Given the description of an element on the screen output the (x, y) to click on. 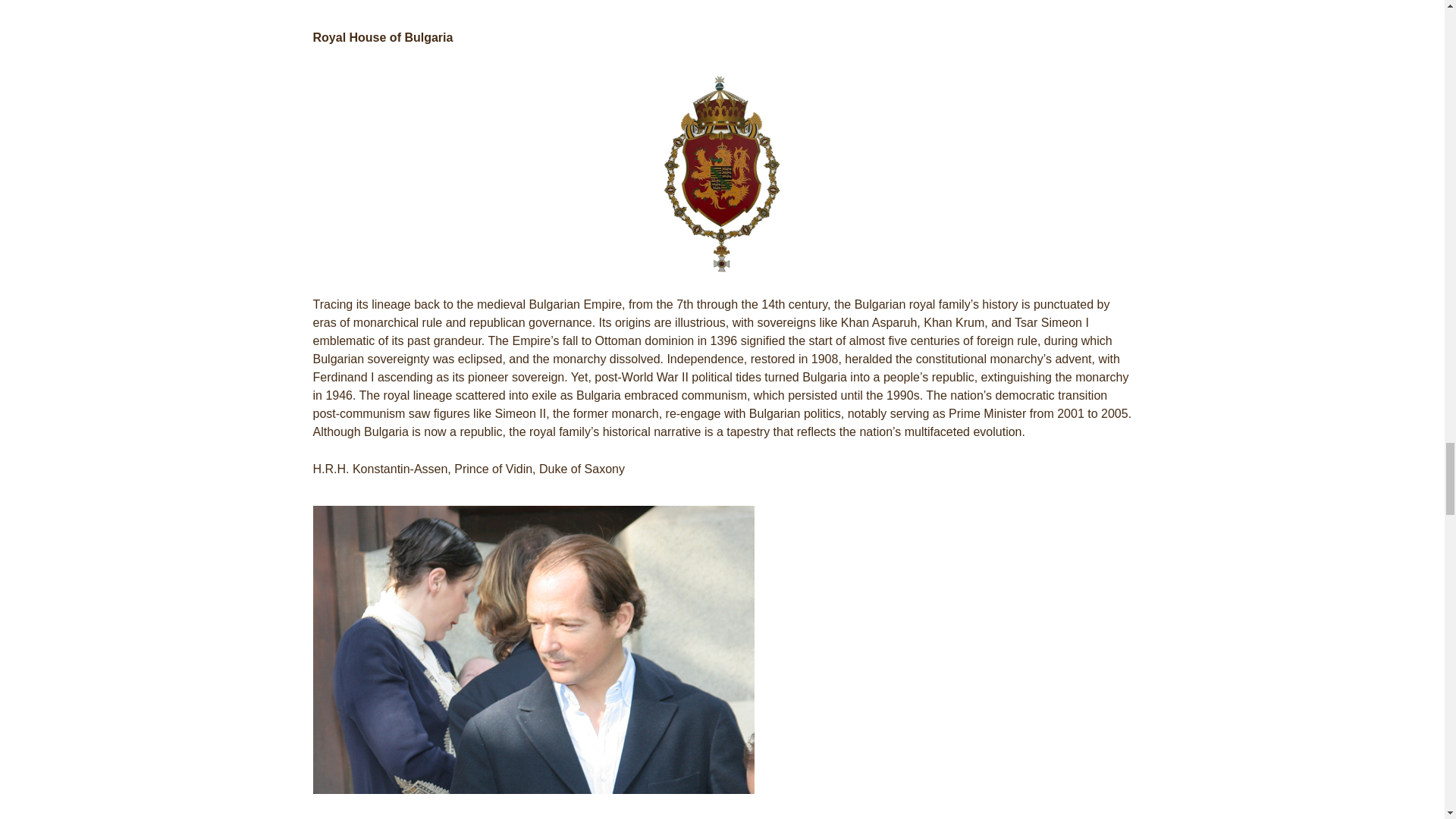
H.R.H. Konstantin-Assen, Prince of Vidin, Duke of Saxony (533, 649)
